Given the description of an element on the screen output the (x, y) to click on. 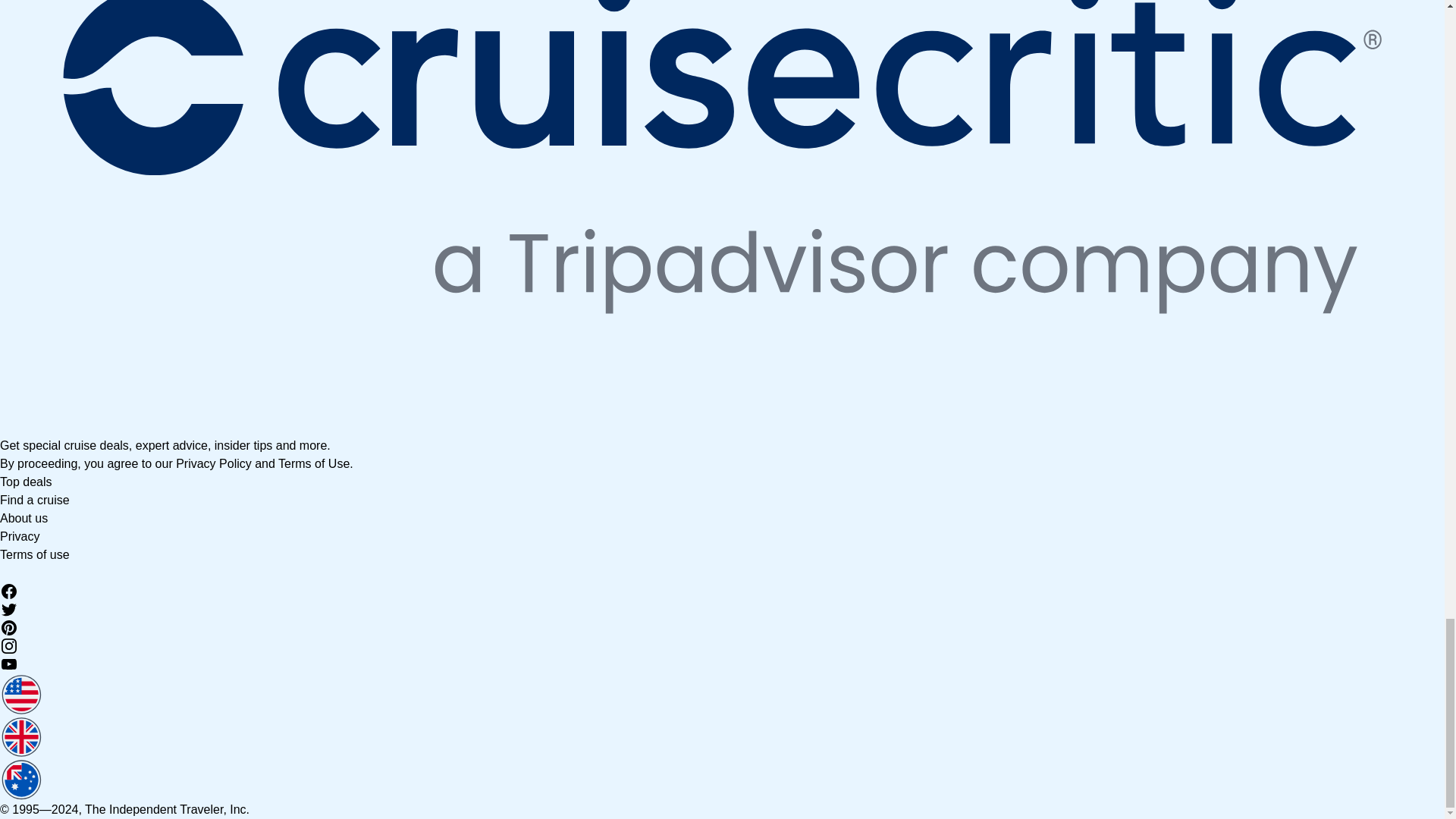
Find a cruise (34, 499)
Privacy Policy (213, 463)
About us (24, 517)
Top deals (26, 481)
Terms of use (34, 554)
Terms of Use (313, 463)
Privacy (19, 535)
